Given the description of an element on the screen output the (x, y) to click on. 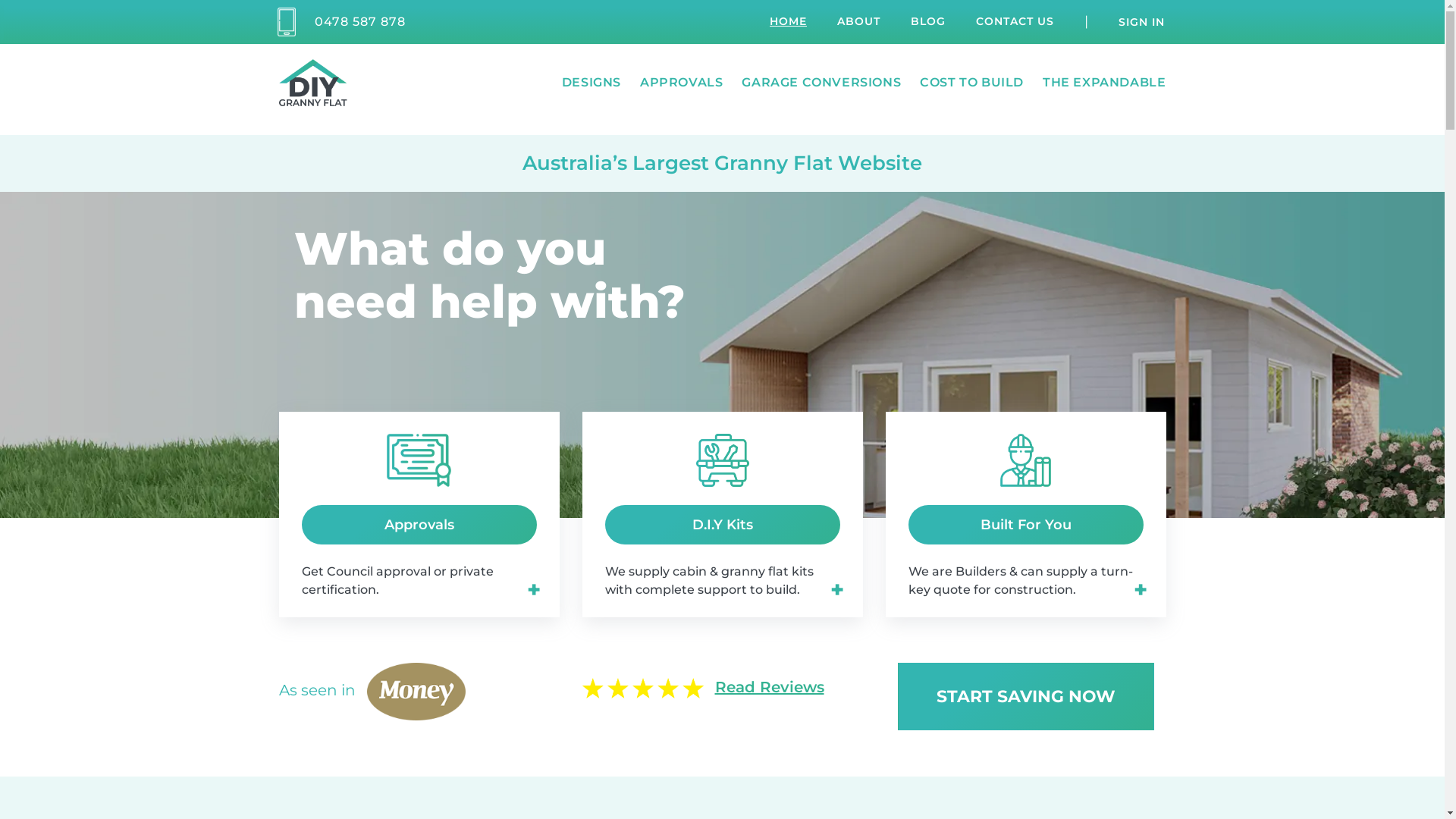
SIGN IN Element type: text (1141, 21)
BLOG Element type: text (927, 21)
Approvals

Get Council approval or private certification. Element type: text (418, 534)
0478 587 878 Element type: text (359, 21)
HOME Element type: text (787, 21)
COST TO BUILD Element type: text (971, 82)
Read Reviews Element type: text (768, 686)
THE EXPANDABLE Element type: text (1103, 82)
APPROVALS Element type: text (681, 82)
GARAGE CONVERSIONS Element type: text (820, 82)
DESIGNS Element type: text (591, 82)
START SAVING NOW Element type: text (1025, 696)
ABOUT Element type: text (858, 21)
CONTACT US Element type: text (1014, 21)
